Given the description of an element on the screen output the (x, y) to click on. 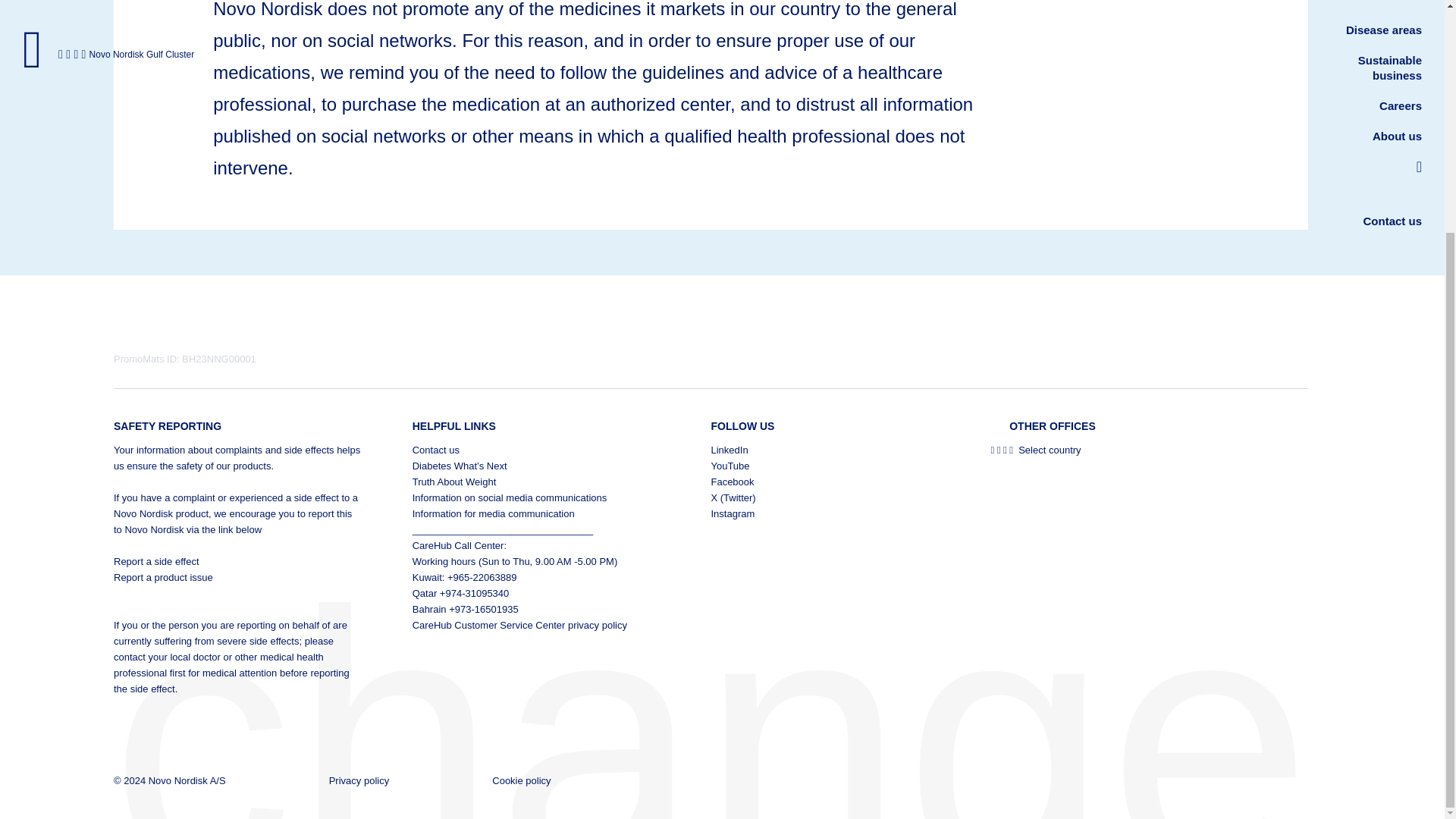
Truth About Weight (536, 481)
Contact us (536, 449)
Information for media communication (536, 513)
Link to report a product issue form (237, 577)
Link to safety reporting form on novonordisk.com (237, 561)
Report a side effect (237, 561)
Report a product issue (237, 577)
Information on social media communications (536, 497)
